Given the description of an element on the screen output the (x, y) to click on. 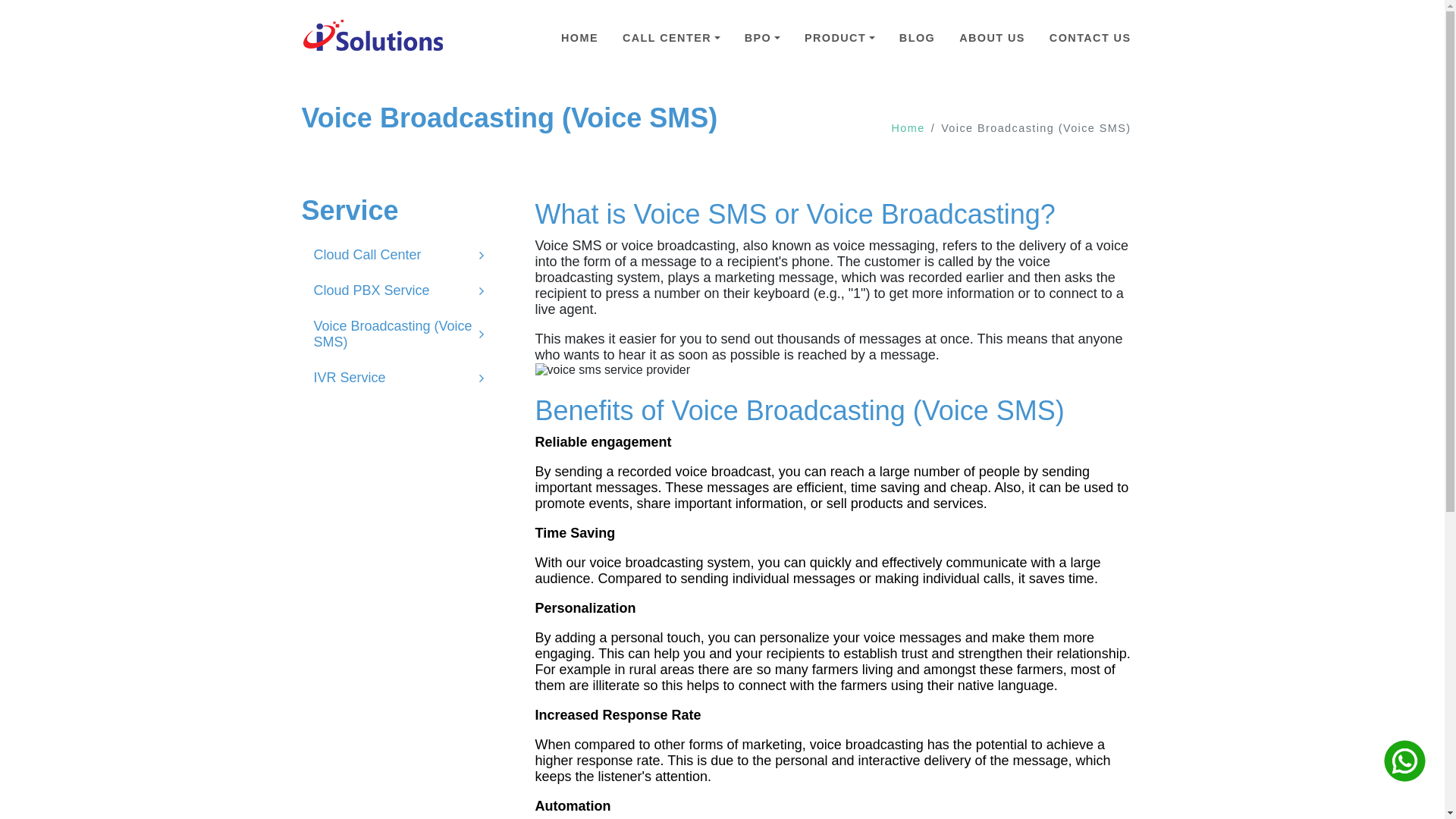
BLOG Element type: text (917, 37)
Cloud PBX Service Element type: text (398, 290)
BPO Element type: text (762, 37)
HOME Element type: text (579, 37)
CALL CENTER Element type: text (671, 37)
PRODUCT Element type: text (839, 37)
Voice Broadcasting (Voice SMS) Element type: text (398, 334)
ABOUT US Element type: text (992, 37)
Cloud Call Center Element type: text (398, 255)
IVR Service Element type: text (398, 378)
Home Element type: text (908, 128)
CONTACT US Element type: text (1090, 37)
